Given the description of an element on the screen output the (x, y) to click on. 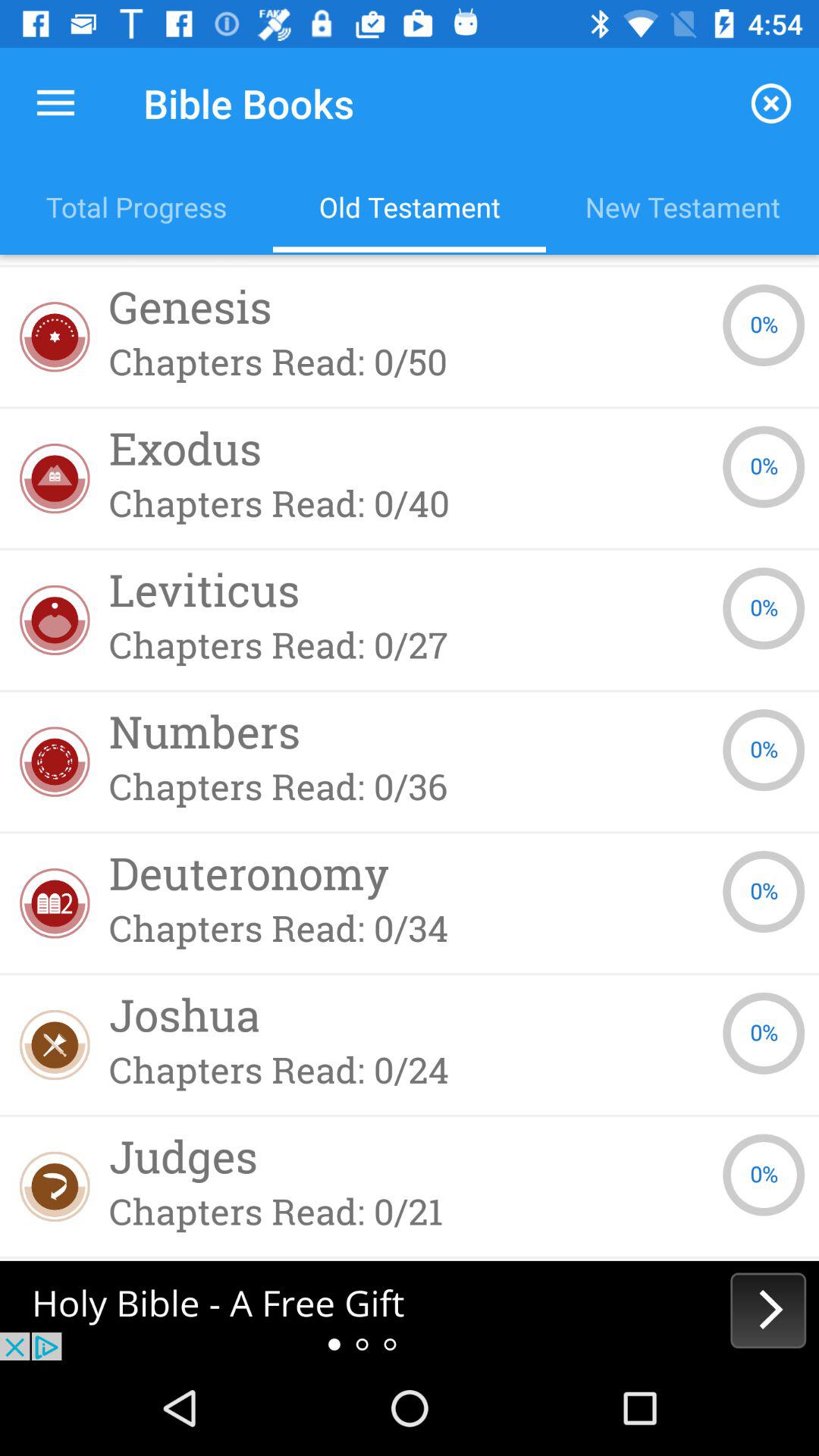
go to the next (409, 1310)
